Given the description of an element on the screen output the (x, y) to click on. 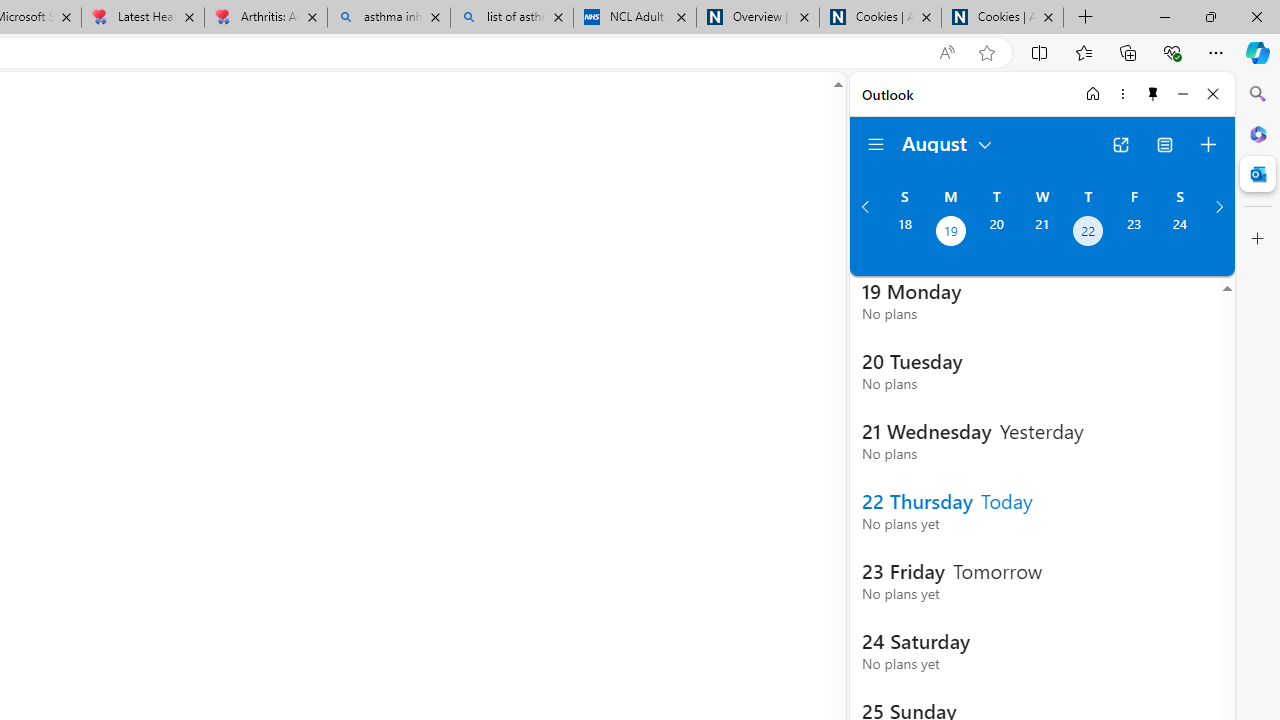
Wednesday, August 21, 2024.  (1042, 233)
August (948, 141)
